Given the description of an element on the screen output the (x, y) to click on. 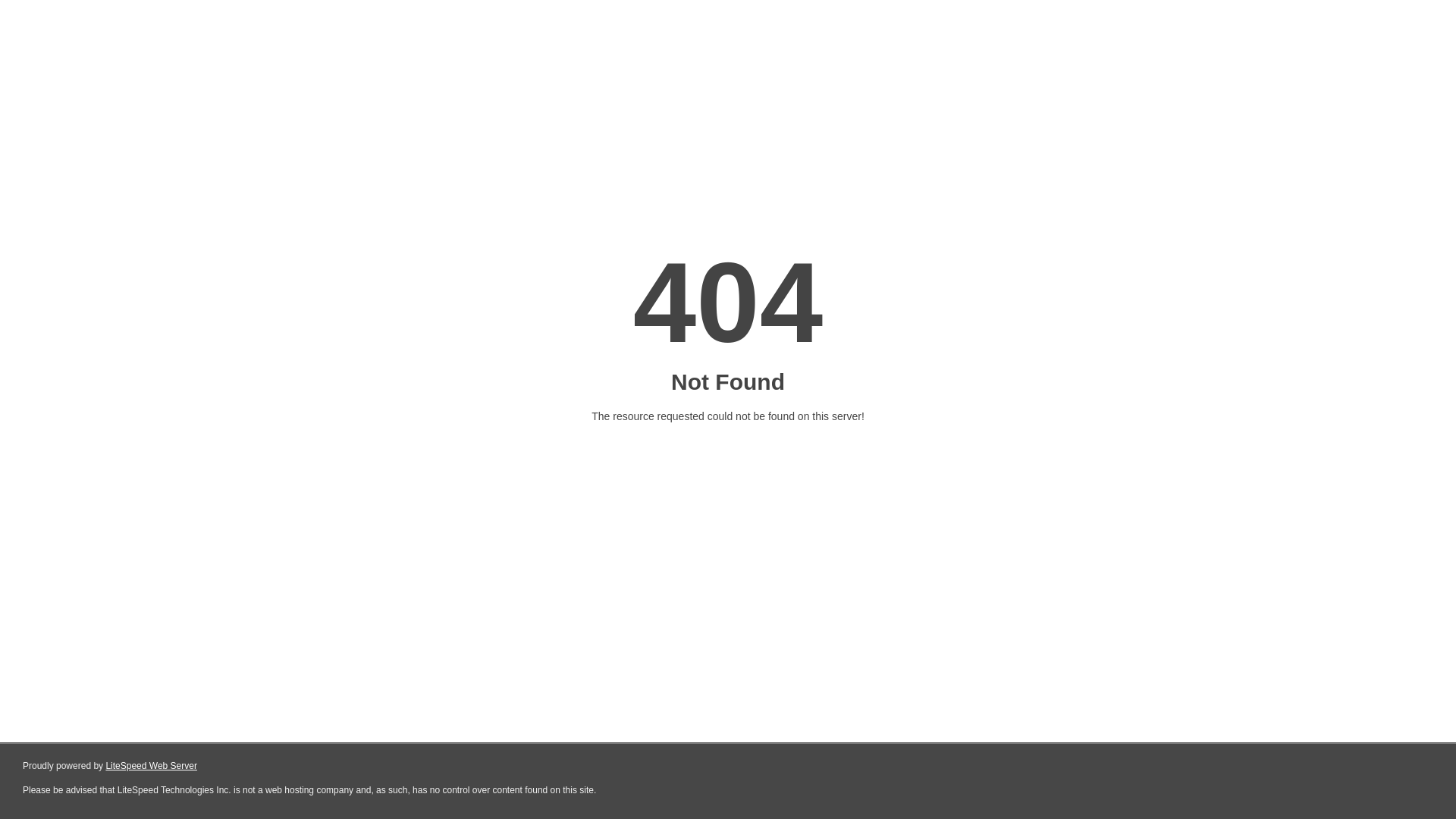
LiteSpeed Web Server Element type: text (151, 765)
